Given the description of an element on the screen output the (x, y) to click on. 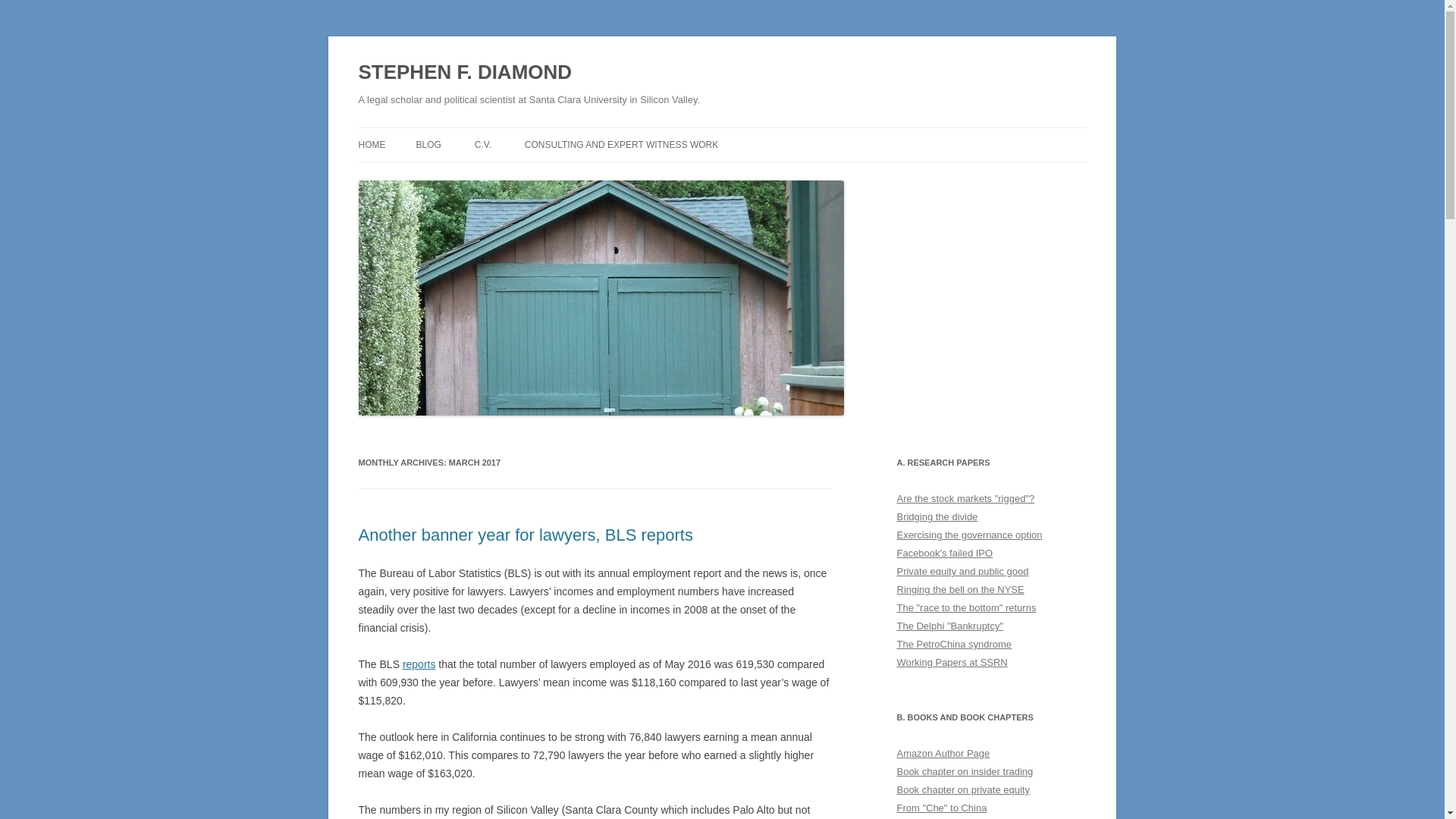
Exercising the governance option (969, 534)
From Che to China (941, 808)
Bridging the divide (936, 516)
reports (419, 664)
STEPHEN F. DIAMOND (465, 72)
CONSULTING AND EXPERT WITNESS WORK (620, 144)
Insider trading in the startup environment (964, 771)
Amazon Author Page (943, 753)
Another banner year for lawyers, BLS reports (525, 534)
From "Che" to China (941, 808)
The Delphi "Bankruptcy" (949, 625)
The PetroChina syndrome (953, 644)
Amazon author page (943, 753)
Facebook's failed IPO (944, 552)
